Given the description of an element on the screen output the (x, y) to click on. 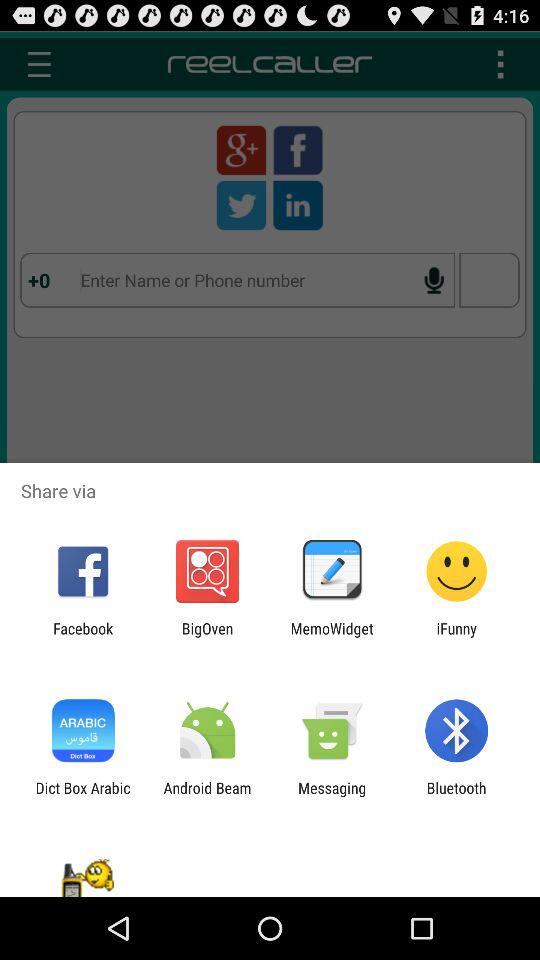
press the item next to android beam app (82, 796)
